Given the description of an element on the screen output the (x, y) to click on. 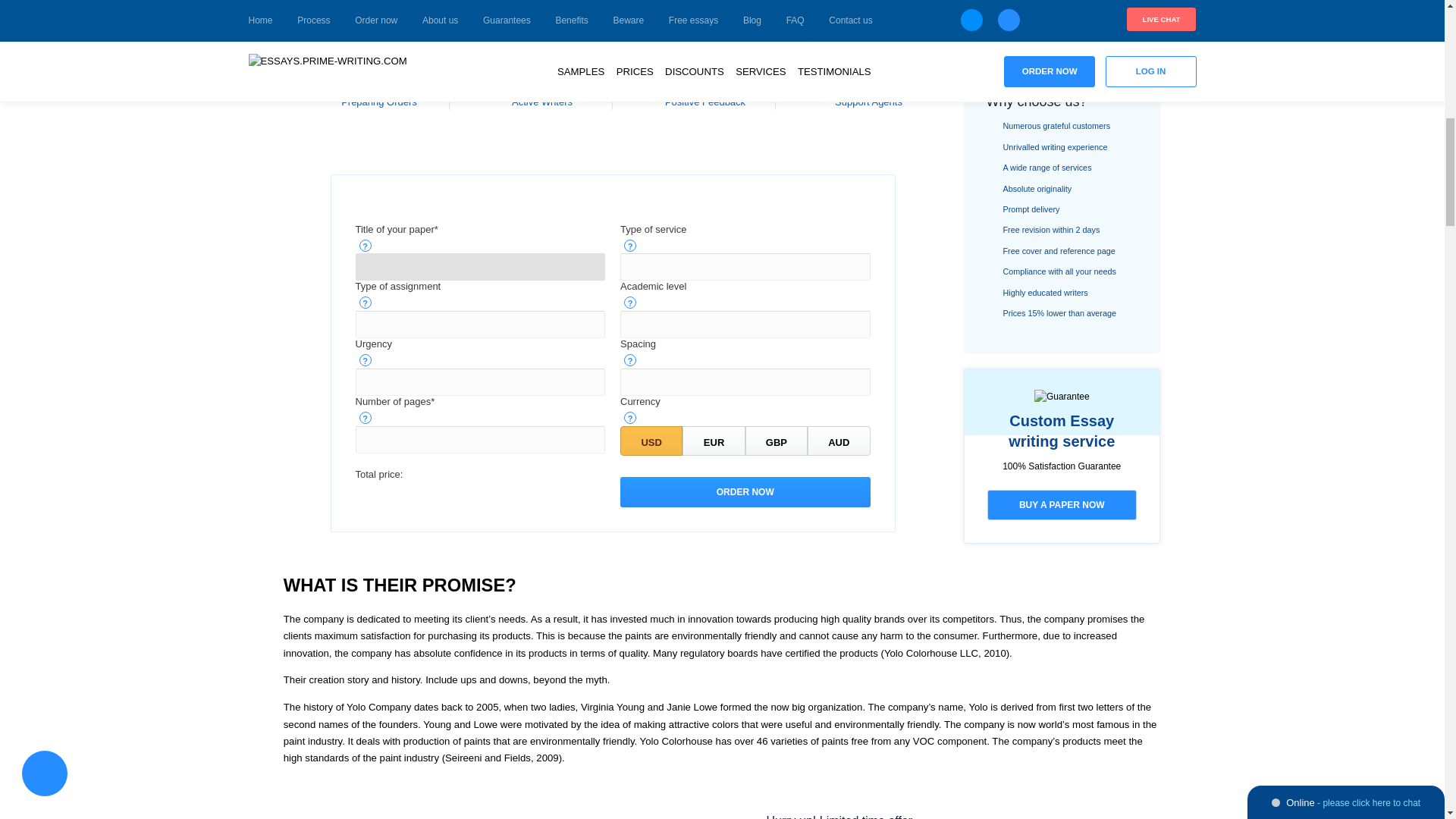
BUY A PAPER NOW (1062, 504)
Order now (745, 491)
EUR (713, 440)
Search (1061, 25)
GBP (776, 440)
Search (1061, 25)
USD (651, 440)
AUD (838, 440)
